Given the description of an element on the screen output the (x, y) to click on. 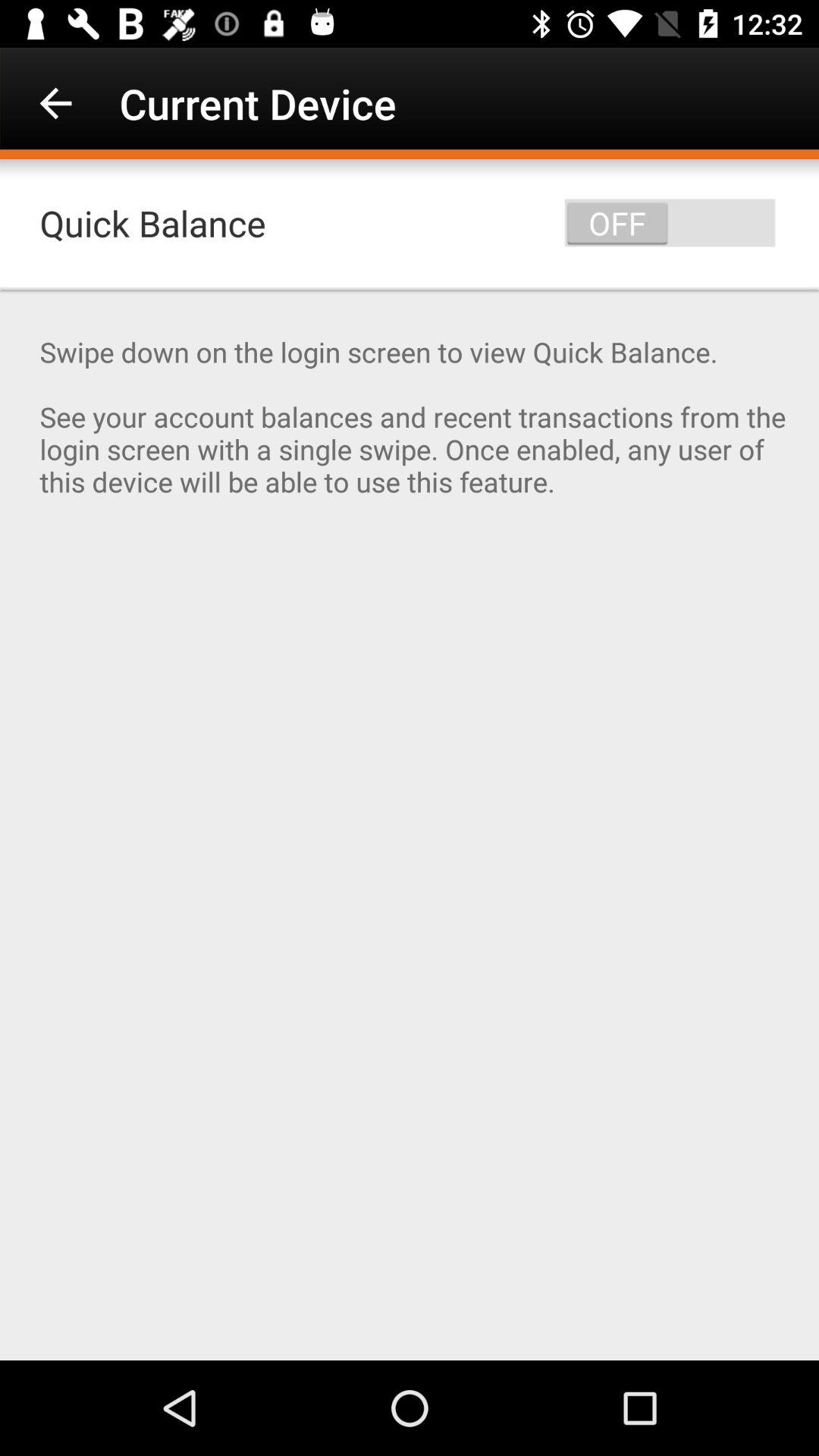
choose the item above the quick balance icon (55, 103)
